Given the description of an element on the screen output the (x, y) to click on. 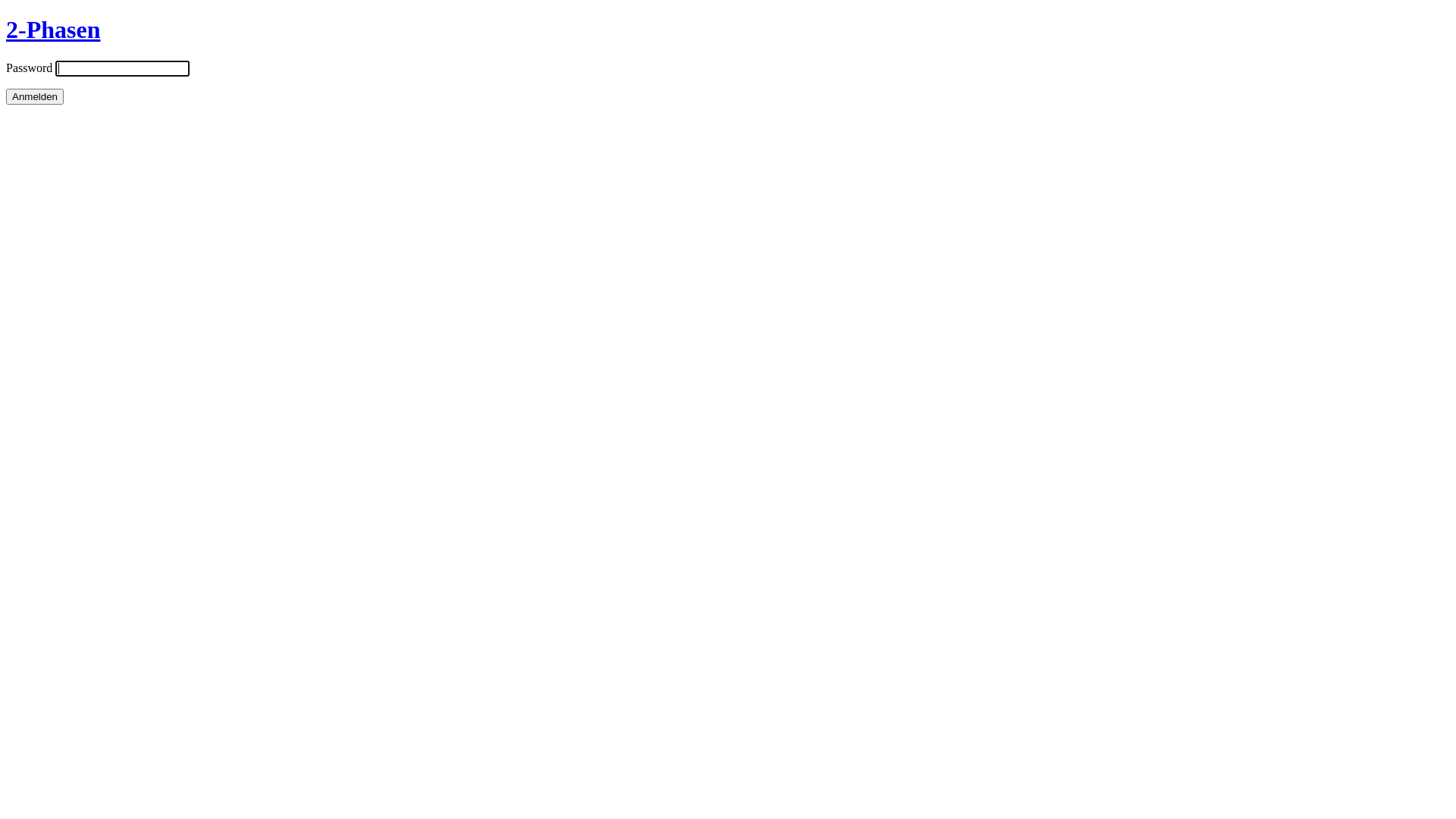
2-Phasen Element type: text (53, 29)
Anmelden Element type: text (34, 96)
